Given the description of an element on the screen output the (x, y) to click on. 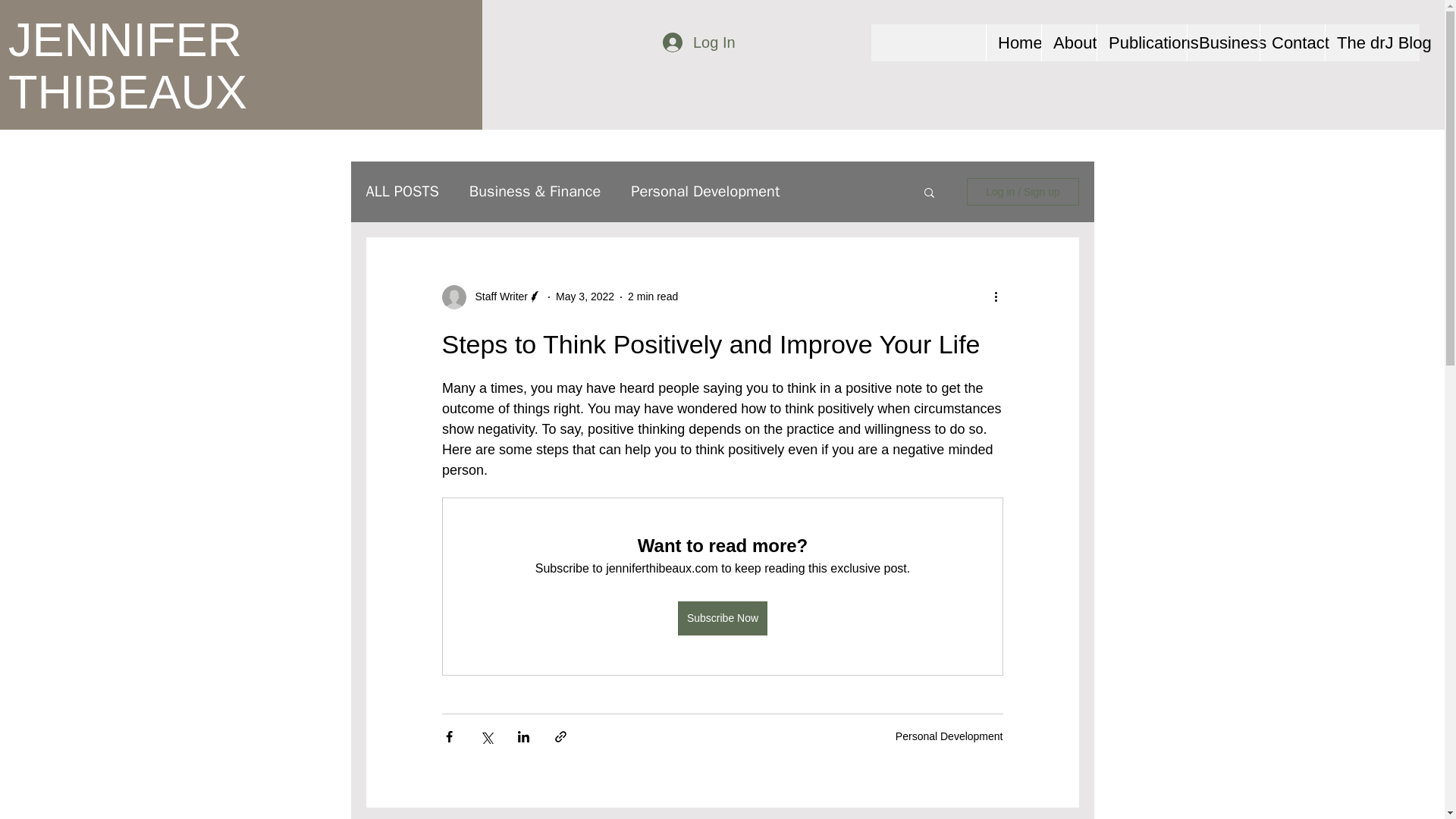
ALL POSTS (401, 190)
May 3, 2022 (585, 296)
Home (1013, 42)
The drJ Blog (1371, 42)
Staff Writer (496, 296)
Personal Development (704, 190)
Subscribe Now (722, 618)
Personal Development (949, 736)
JENNIFER THIBEAUX (127, 65)
Log In (697, 42)
Staff Writer (491, 297)
Contact (1291, 42)
2 min read (652, 296)
